Given the description of an element on the screen output the (x, y) to click on. 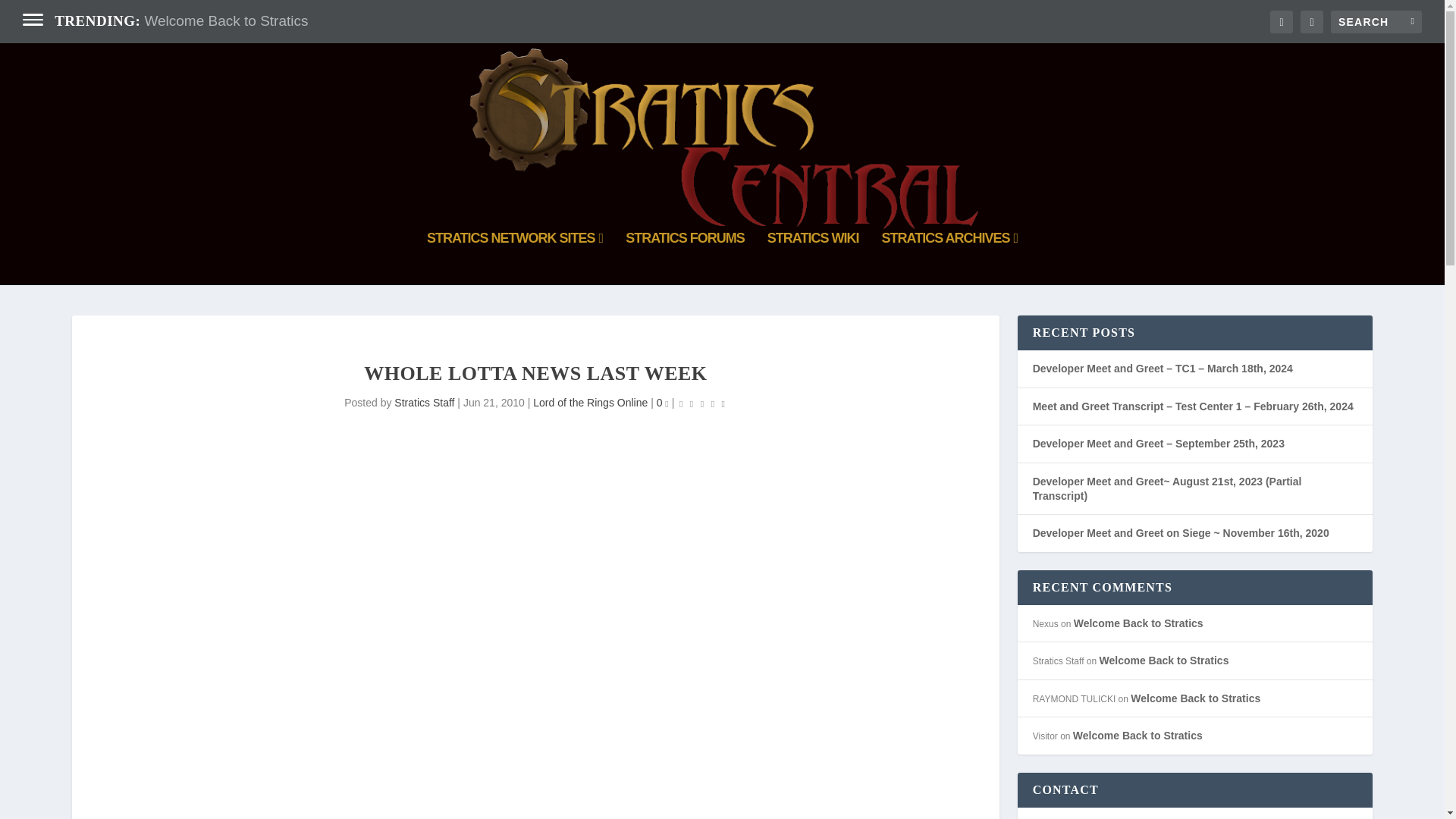
STRATICS WIKI (813, 258)
STRATICS NETWORK SITES (514, 258)
Lord of the Rings Online (589, 402)
STRATICS FORUMS (685, 258)
0 (662, 402)
Stratics Staff (424, 402)
Posts by Stratics Staff (424, 402)
STRATICS ARCHIVES (948, 258)
Advertisement (535, 764)
Welcome Back to Stratics (225, 20)
Search for: (1376, 21)
Rating: 0.00 (701, 403)
